Given the description of an element on the screen output the (x, y) to click on. 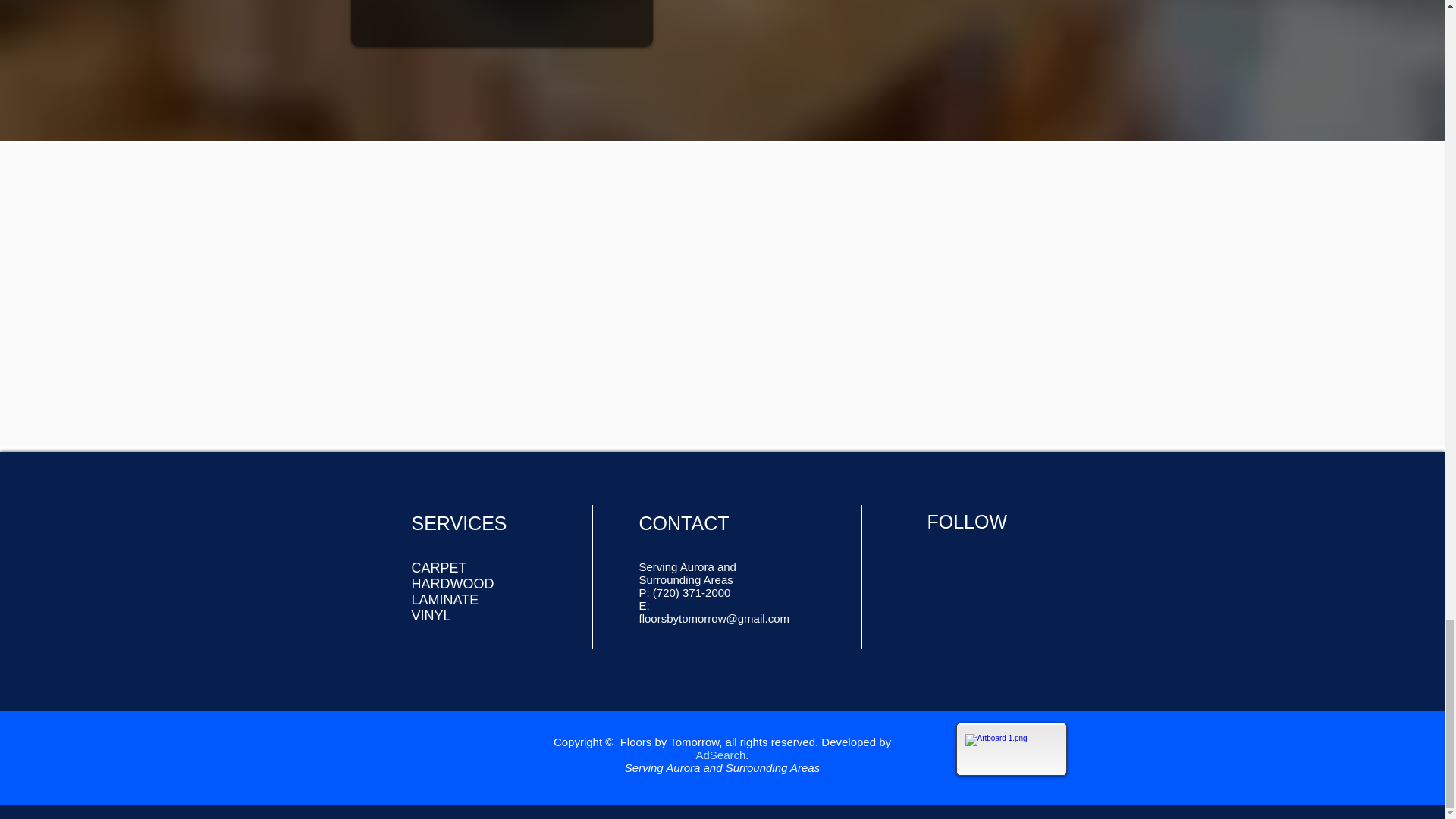
HARDWOOD (451, 583)
VINYL (429, 615)
Surrounding Areas (685, 579)
CARPET (437, 567)
LAMINATE (444, 599)
Serving Aurora and (687, 566)
